Given the description of an element on the screen output the (x, y) to click on. 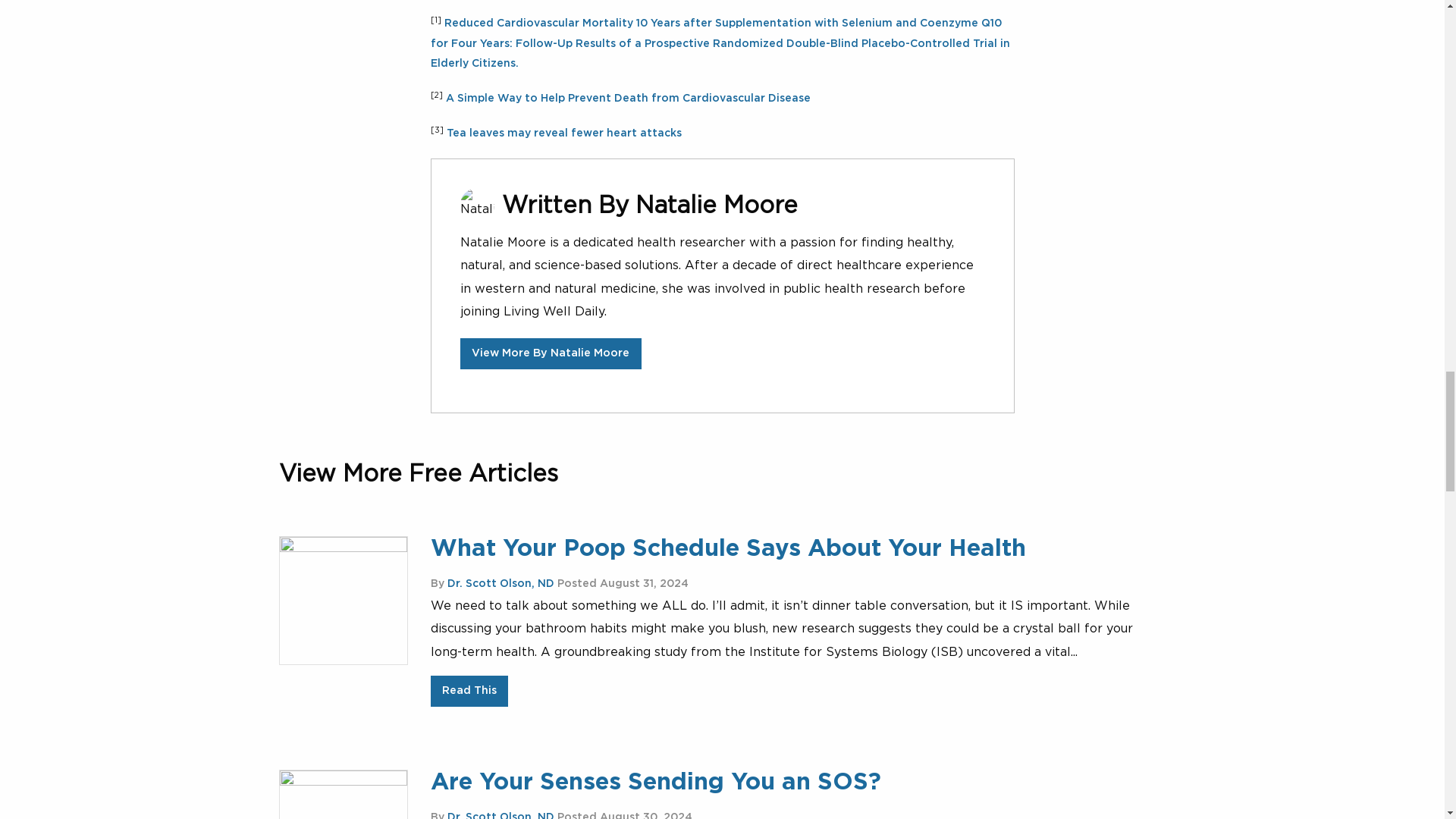
Are Your Senses Sending You an SOS? (655, 781)
Tea leaves may reveal fewer heart attacks (563, 132)
Read This (469, 690)
What Your Poop Schedule Says About Your Health (728, 548)
Dr. Scott Olson, ND (500, 815)
View More By Natalie Moore (551, 353)
Dr. Scott Olson, ND (500, 583)
